Given the description of an element on the screen output the (x, y) to click on. 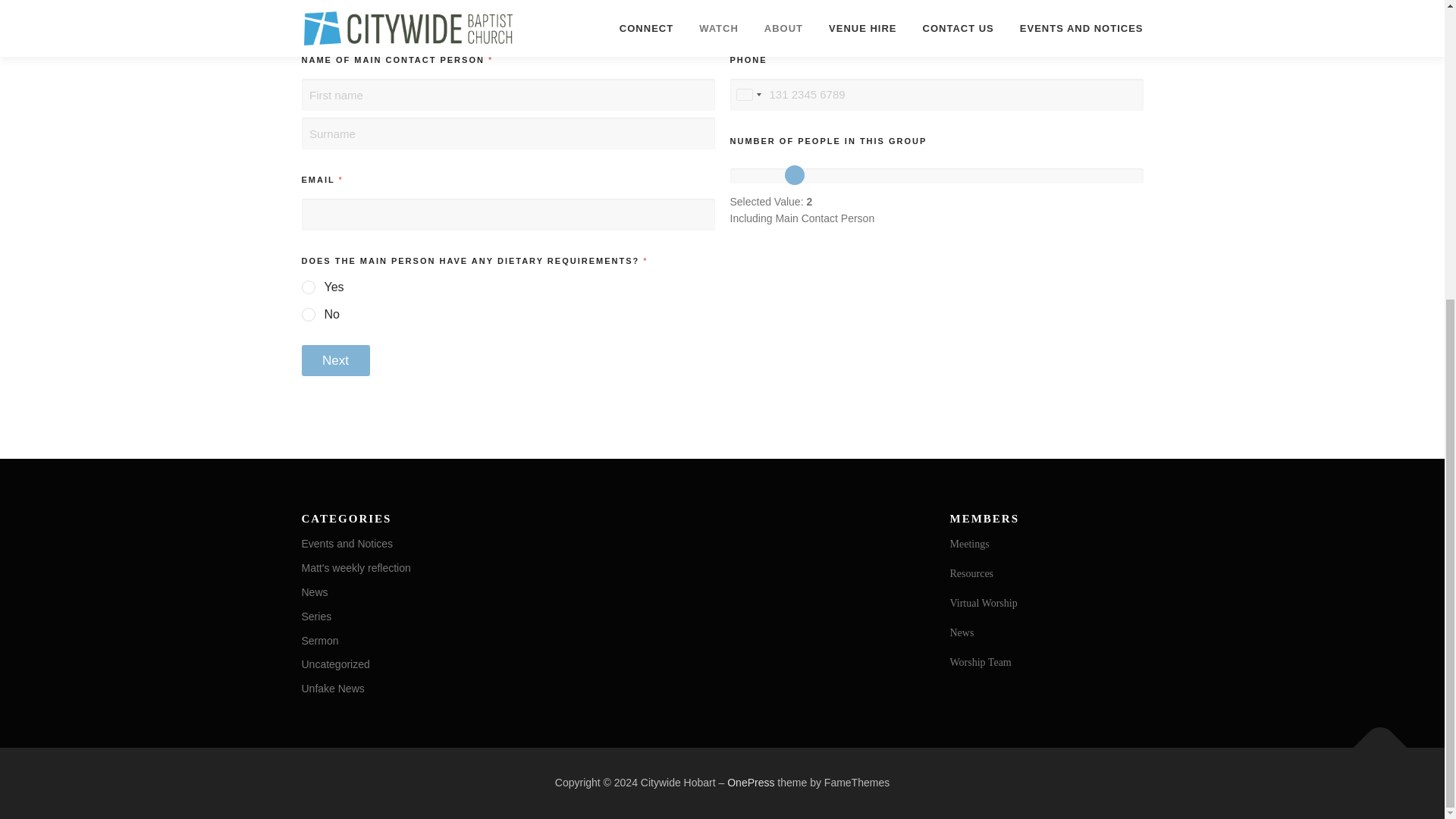
Yes (308, 287)
No (308, 315)
2 (935, 176)
